Given the description of an element on the screen output the (x, y) to click on. 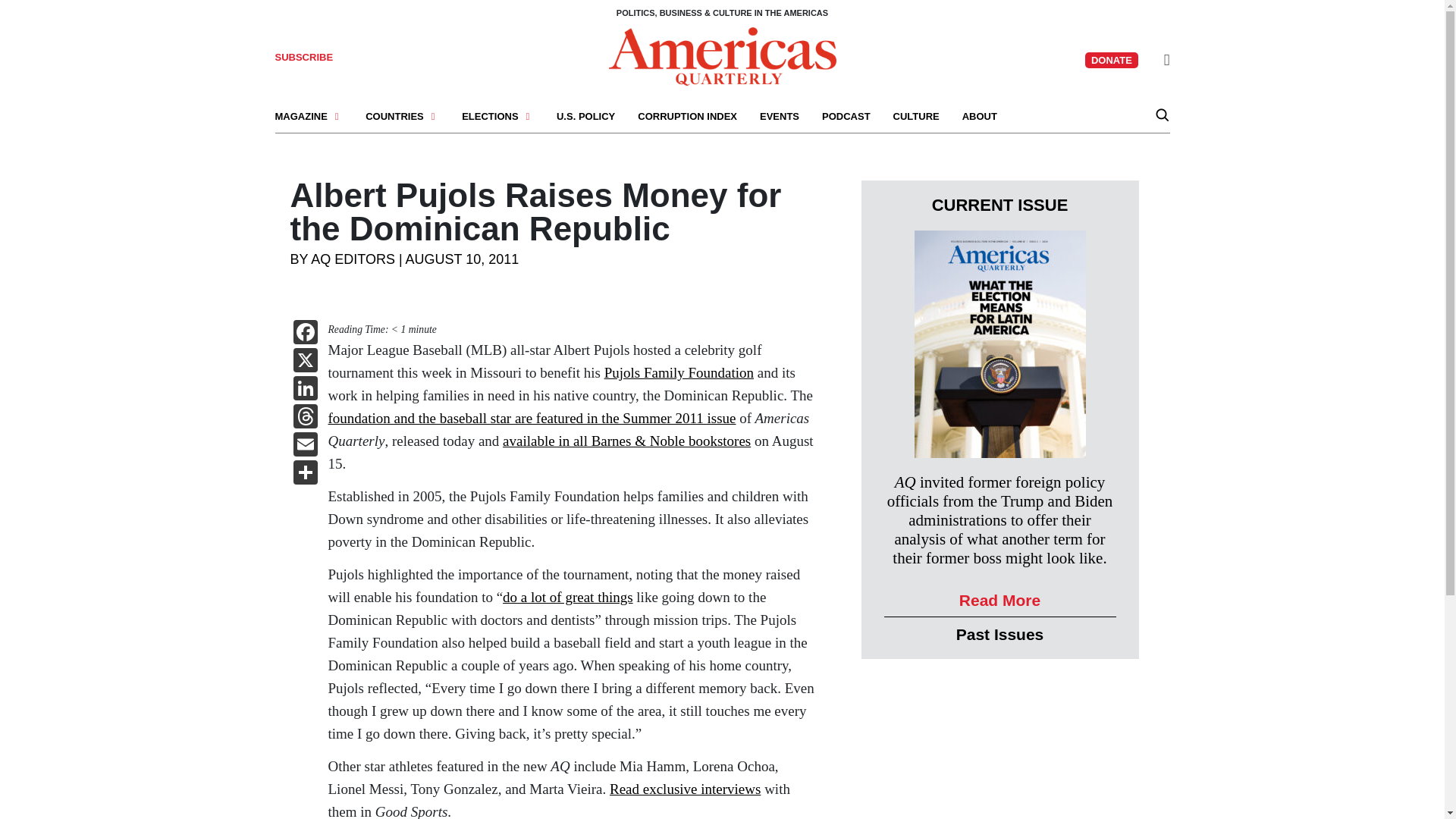
Email (304, 446)
Americas Quarterly (721, 56)
Facebook (304, 334)
DONATE (1111, 59)
SUBSCRIBE (304, 57)
LinkedIn (304, 389)
X (304, 361)
Threads (304, 418)
Americas Quarterly (721, 54)
